Given the description of an element on the screen output the (x, y) to click on. 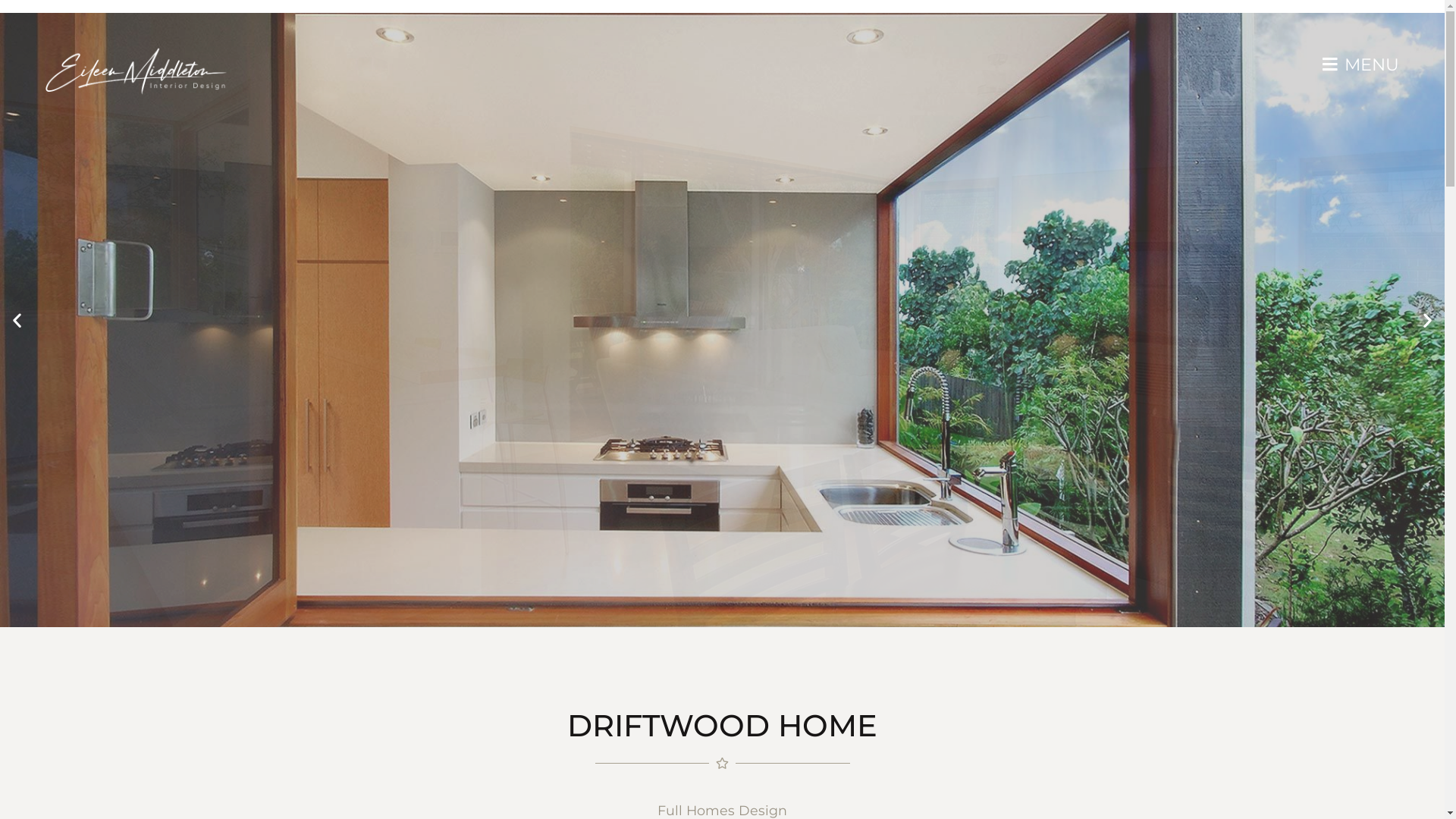
MENU Element type: text (1360, 64)
